Given the description of an element on the screen output the (x, y) to click on. 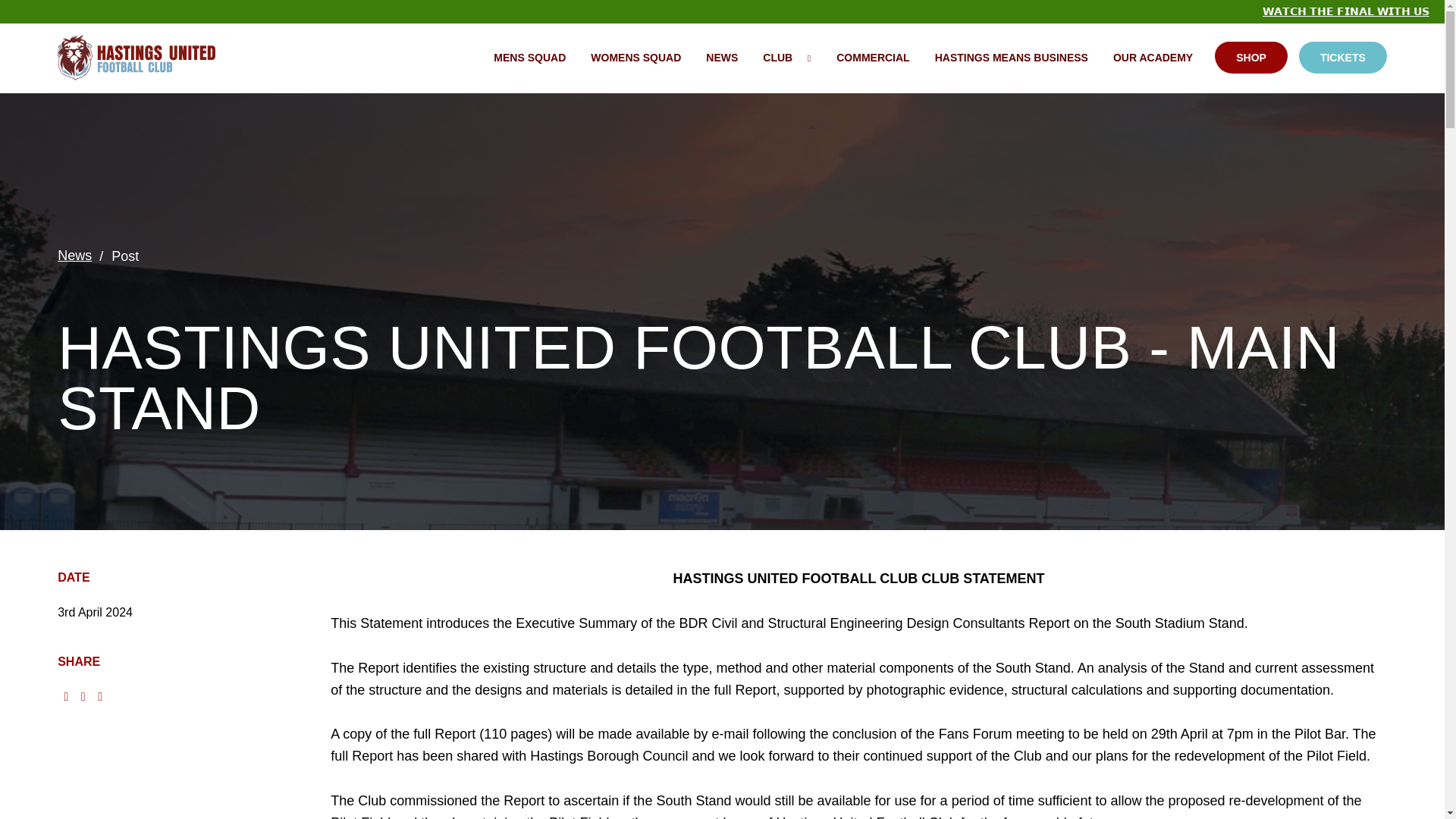
News (82, 255)
Share on linkedin (99, 696)
HASTINGS MEANS BUSINESS (1011, 57)
WOMENS SQUAD (635, 57)
OUR ACADEMY (1153, 57)
TICKETS (1342, 57)
SHOP (1250, 57)
MENS SQUAD (529, 57)
Share on facebook (66, 696)
Home (141, 57)
